Given the description of an element on the screen output the (x, y) to click on. 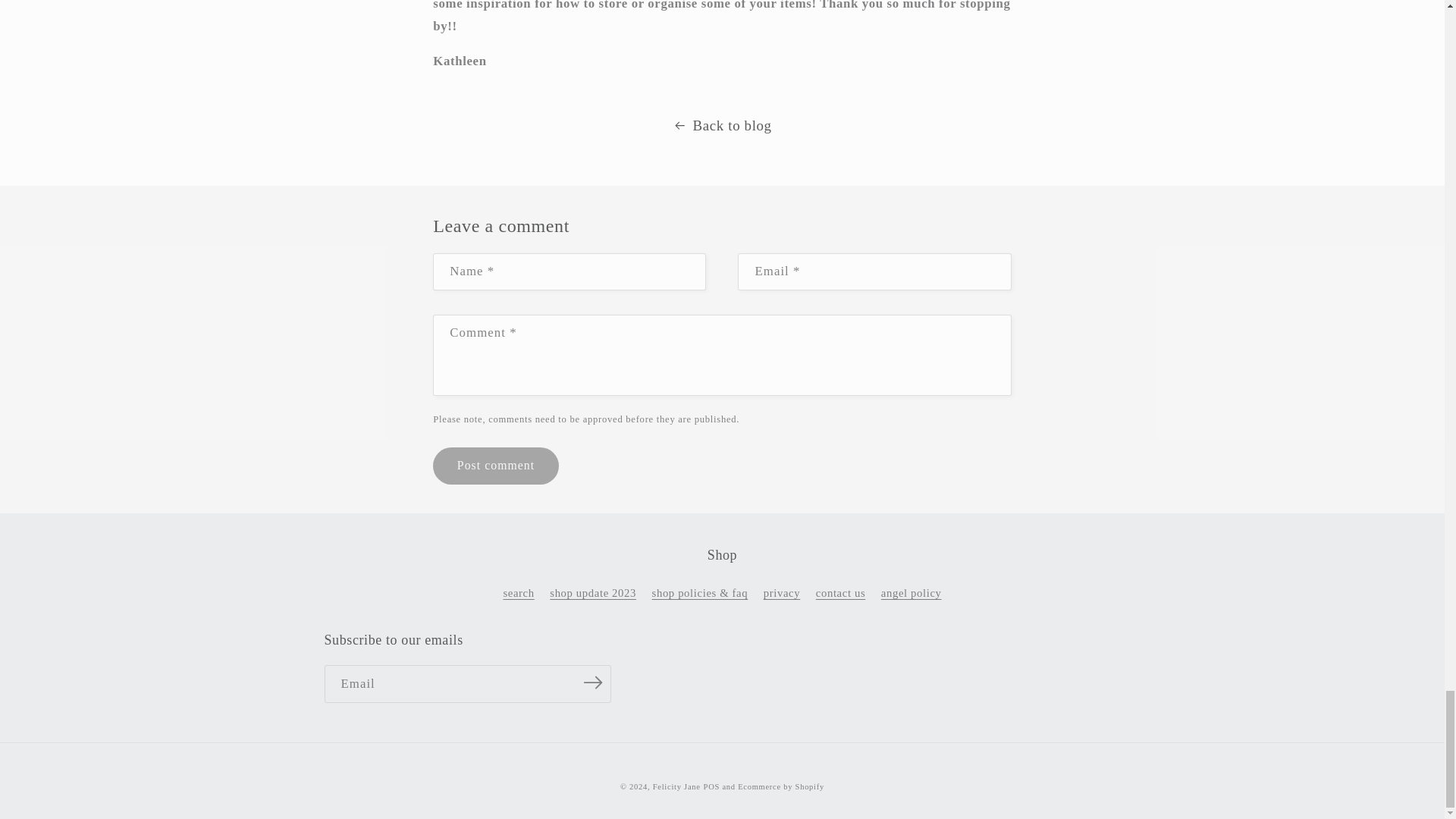
Post comment (494, 465)
Post comment (494, 465)
angel policy (911, 593)
shop update 2023 (593, 593)
contact us (839, 593)
search (518, 595)
privacy (780, 593)
